Given the description of an element on the screen output the (x, y) to click on. 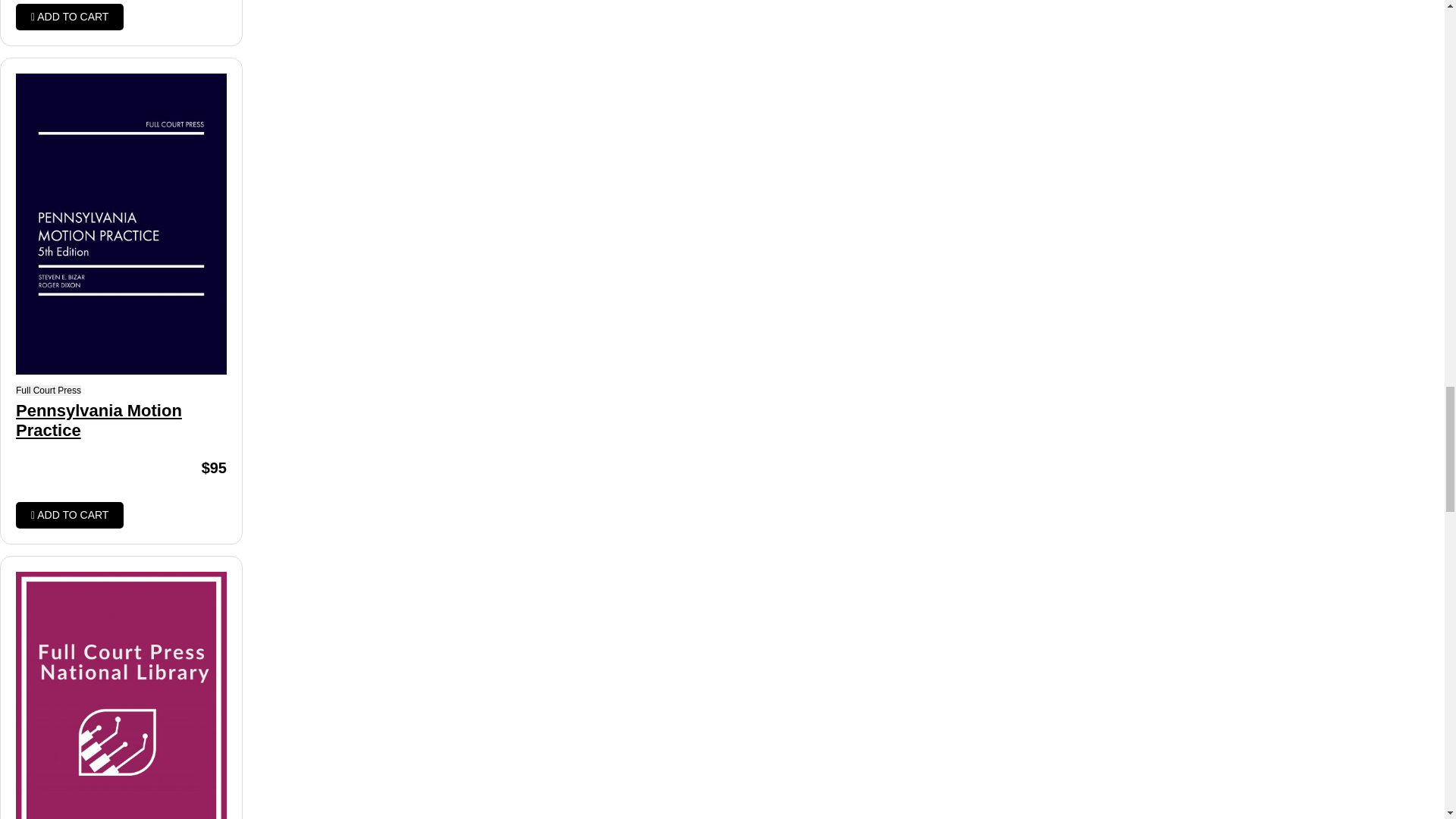
 ADD TO CART (69, 17)
Pennsylvania Motion Practice (121, 421)
 ADD TO CART (69, 515)
